Given the description of an element on the screen output the (x, y) to click on. 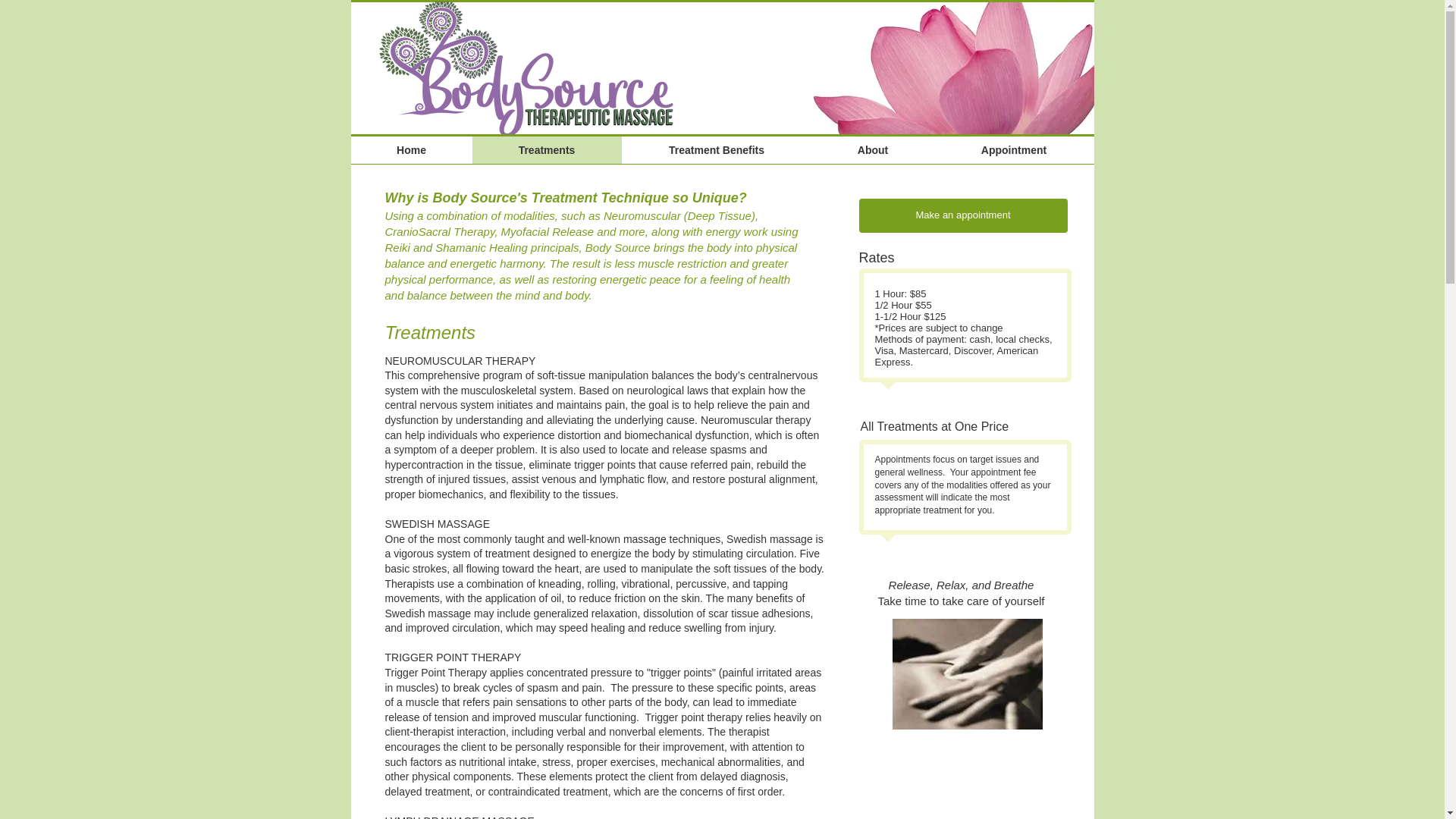
About (871, 149)
Treatments (546, 149)
Appointment (1014, 149)
Treatment Benefits (716, 149)
Home (410, 149)
Make an appointment (963, 215)
